Given the description of an element on the screen output the (x, y) to click on. 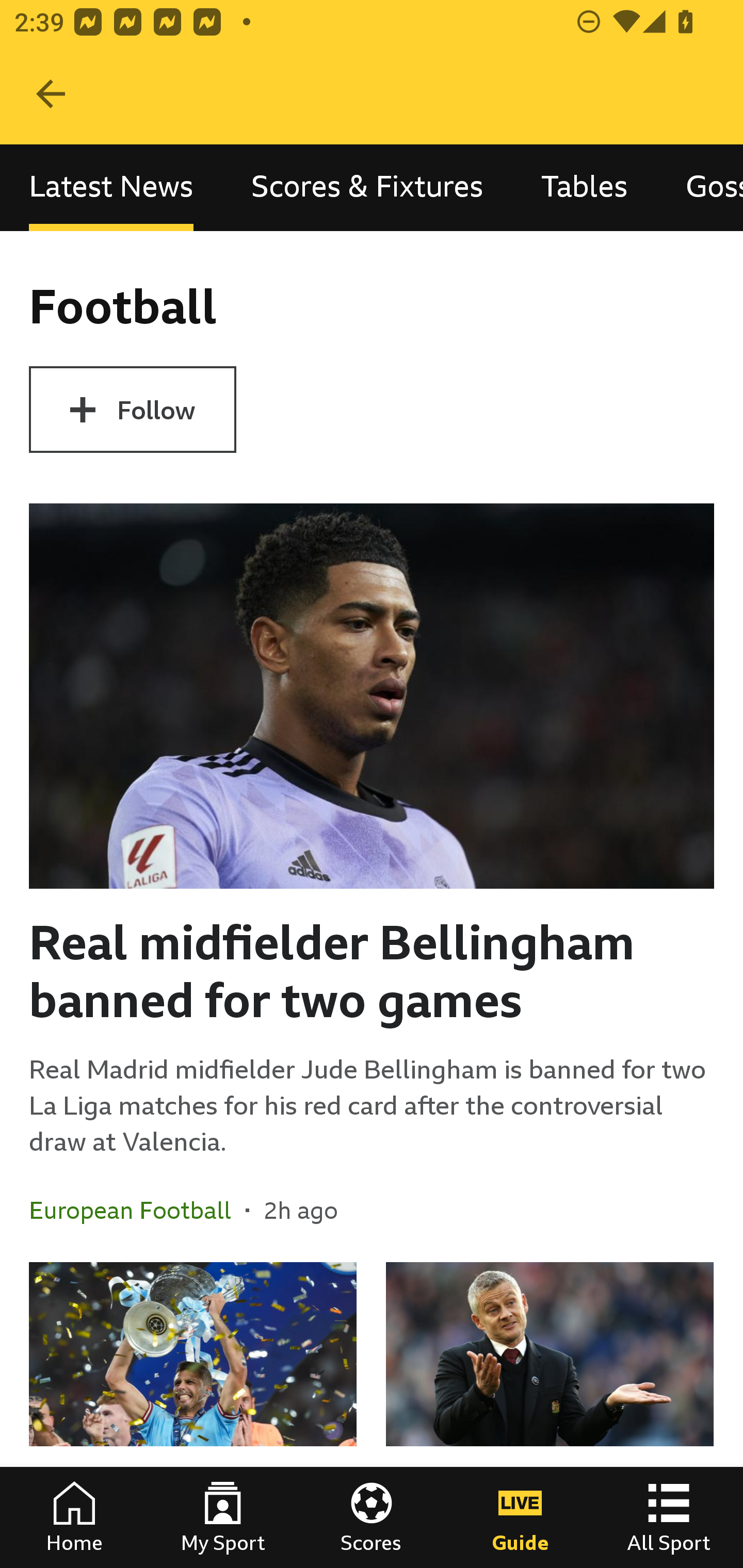
Navigate up (50, 93)
Latest News, selected Latest News (111, 187)
Scores & Fixtures (367, 187)
Tables (584, 187)
Follow Football Follow (132, 409)
European Football In the section European Football (136, 1209)
No 'magic wand' for Man Utd - ex-boss Solskjaer (549, 1415)
Home (74, 1517)
My Sport (222, 1517)
Scores (371, 1517)
All Sport (668, 1517)
